Given the description of an element on the screen output the (x, y) to click on. 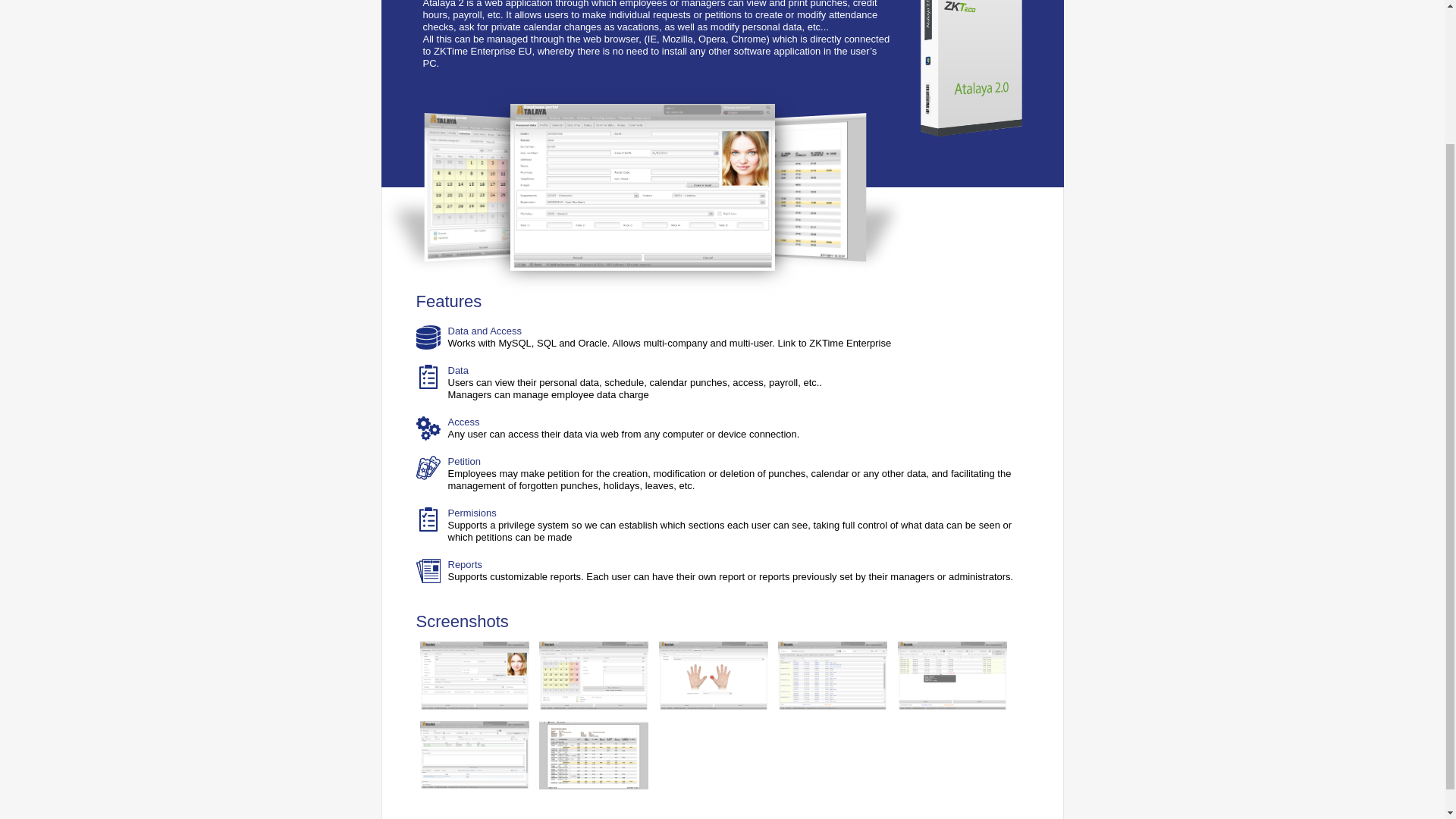
Employee log (831, 675)
Personal calendar (592, 675)
Employee management (474, 675)
Time and payrolls report (592, 755)
Punch management (952, 675)
Data in the terminal (713, 675)
Petition management (474, 755)
